Given the description of an element on the screen output the (x, y) to click on. 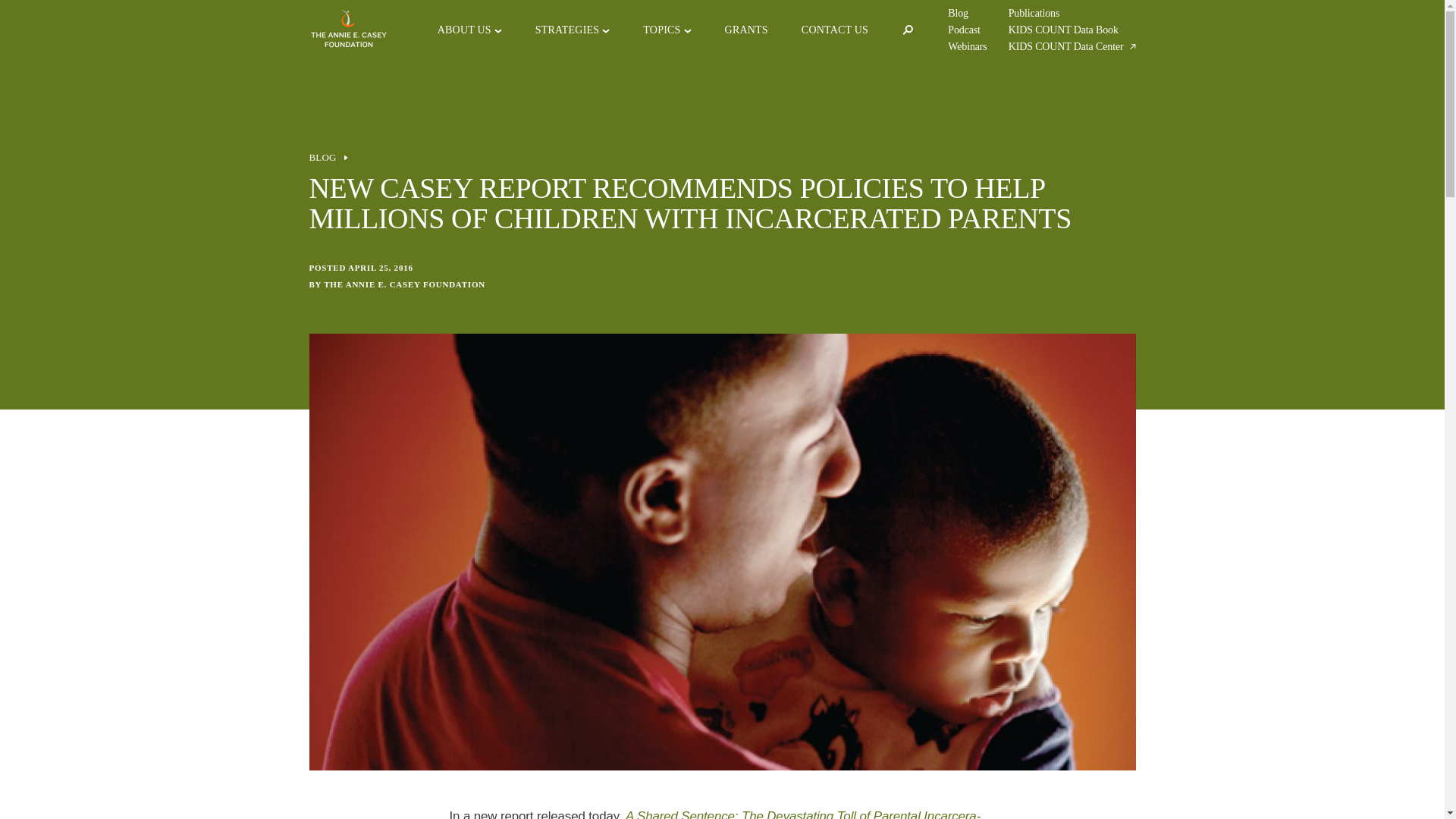
Open Search Modal (907, 30)
STRATEGIES (567, 30)
Webinars (967, 46)
A Shared Sentence (713, 814)
Publications (1034, 13)
GRANTS (746, 30)
CONTACT US (834, 30)
Blog (957, 13)
ABOUT US (465, 30)
Podcast (963, 30)
